Given the description of an element on the screen output the (x, y) to click on. 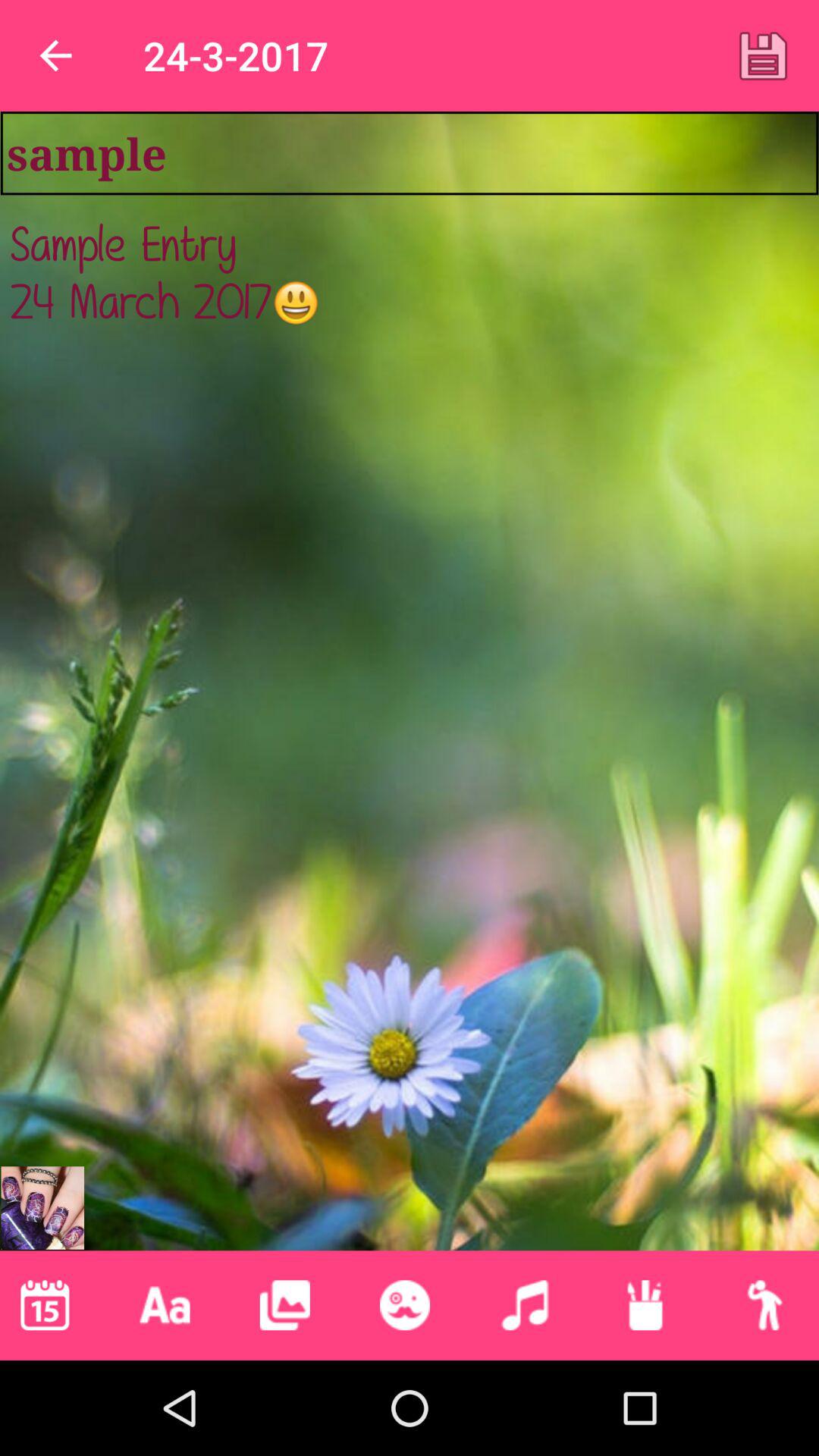
open item below sample entry 24 icon (284, 1305)
